Given the description of an element on the screen output the (x, y) to click on. 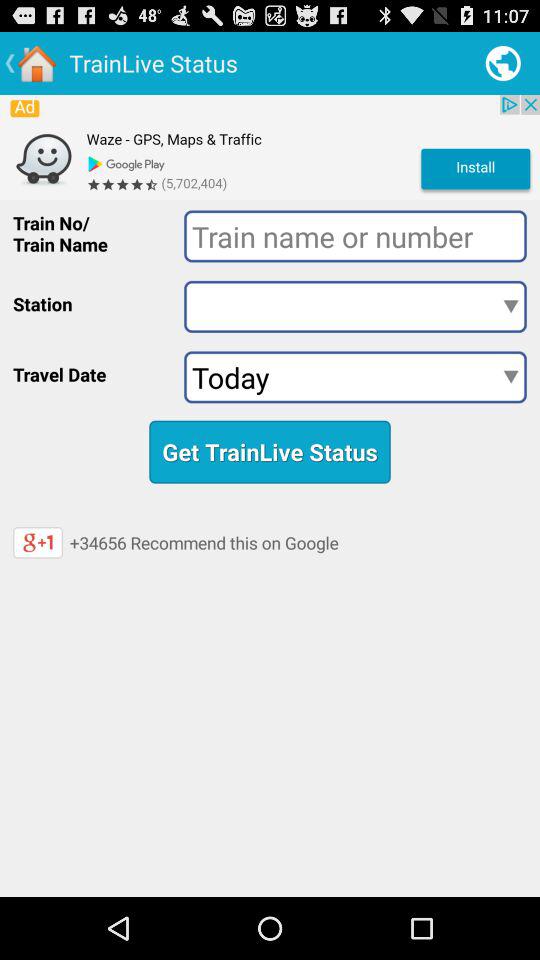
enter train name or number (355, 236)
